Given the description of an element on the screen output the (x, y) to click on. 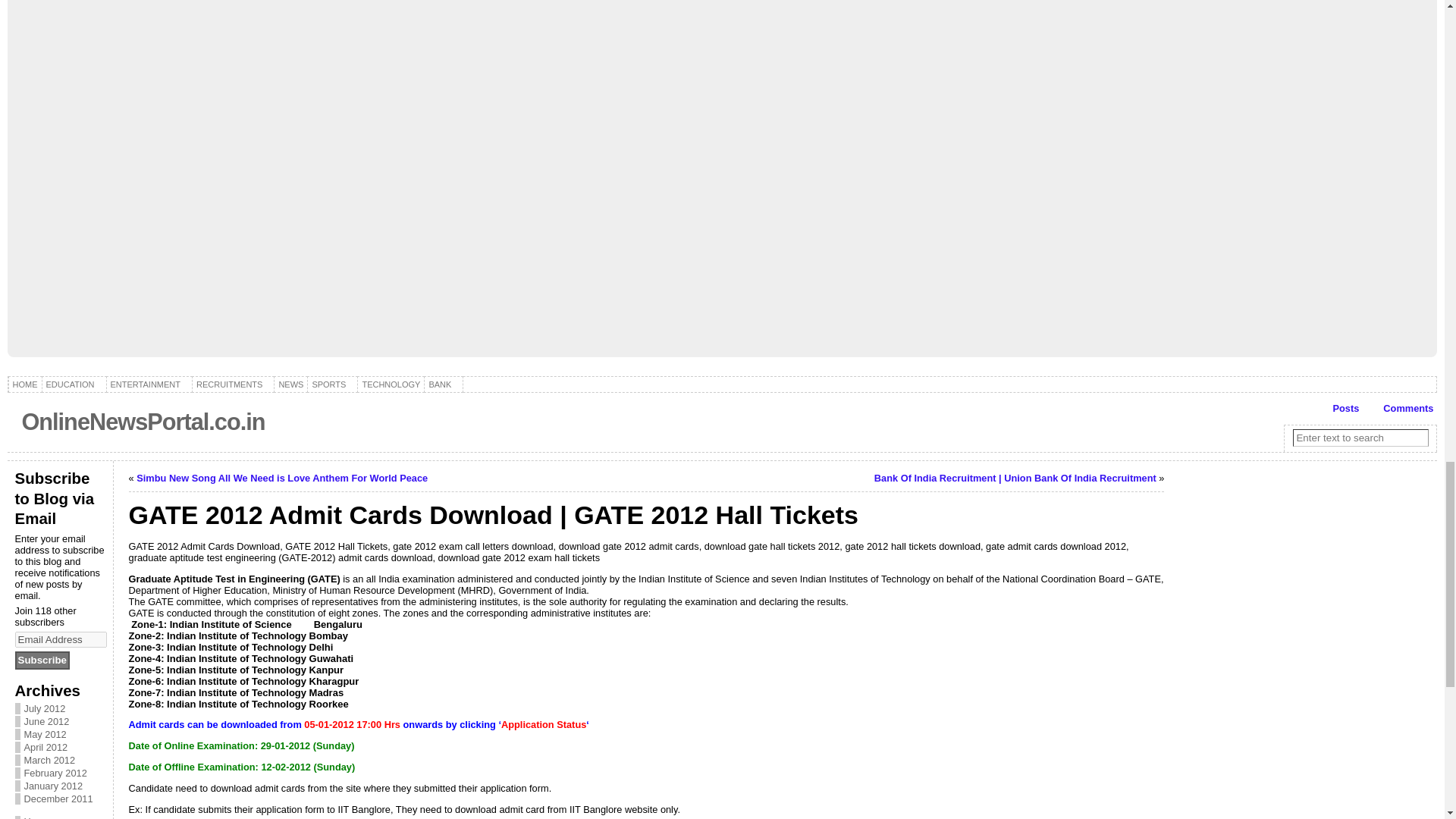
June 2012 (46, 721)
March 2012 (49, 759)
May 2012 (45, 734)
February 2012 (55, 772)
Email Address (60, 639)
December 2011 (58, 798)
July 2012 (44, 708)
Subscribe to the POSTS feed (1337, 408)
January 2012 (53, 785)
Subscribe to the COMMENTS feed (1399, 408)
